Given the description of an element on the screen output the (x, y) to click on. 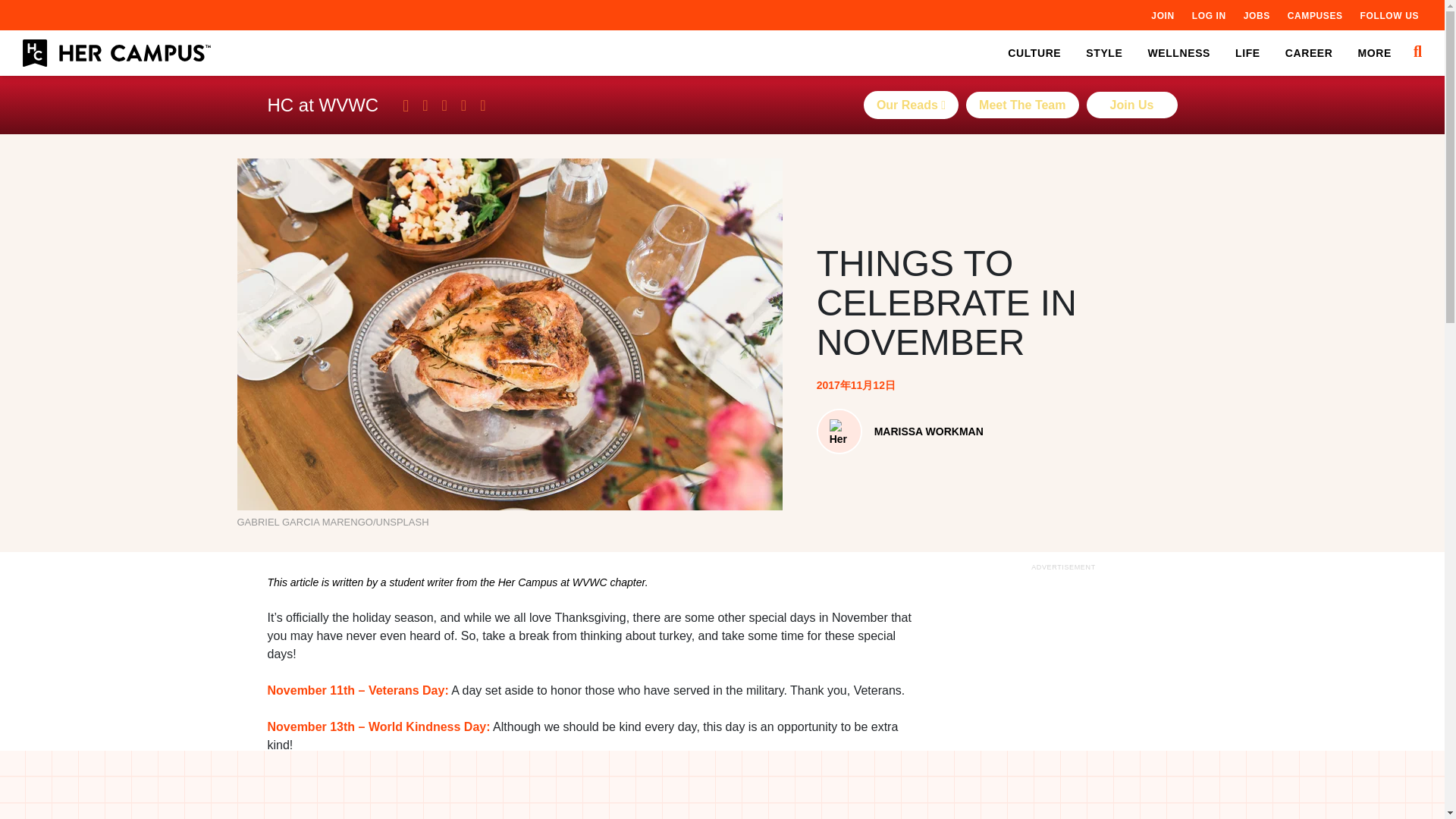
JOIN (1162, 15)
CAMPUSES (1314, 15)
JOBS (1256, 15)
LOG IN (1208, 15)
